Given the description of an element on the screen output the (x, y) to click on. 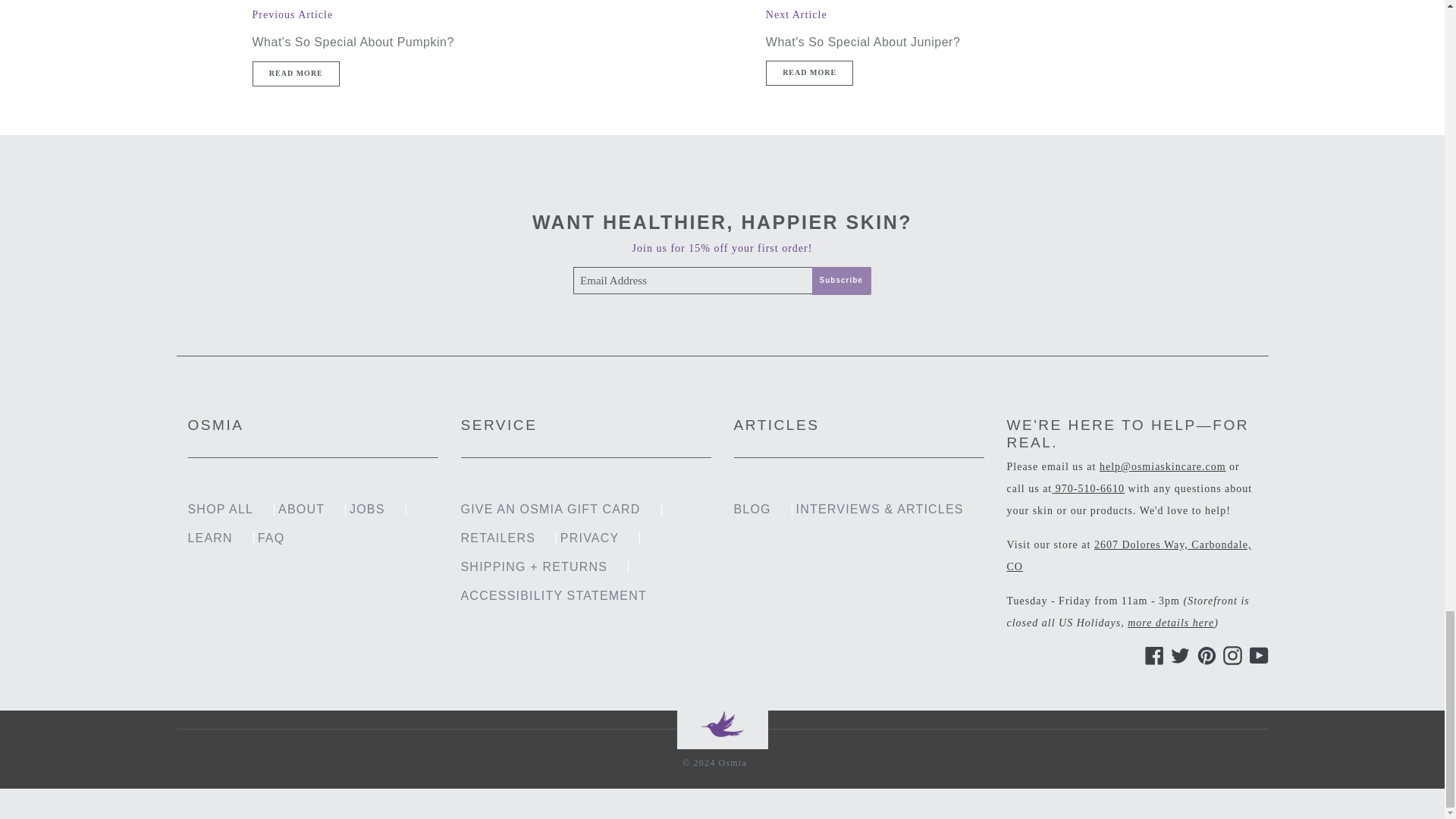
Osmia Skincare FAQ (1170, 622)
Osmia  on Facebook (1151, 655)
Osmia  on Twitter (1177, 655)
Osmia  on Instagram (1229, 655)
Osmia  on Pinterest (1203, 655)
tel:970-510-6610 (1087, 488)
Osmia  on YouTube (1256, 655)
